Given the description of an element on the screen output the (x, y) to click on. 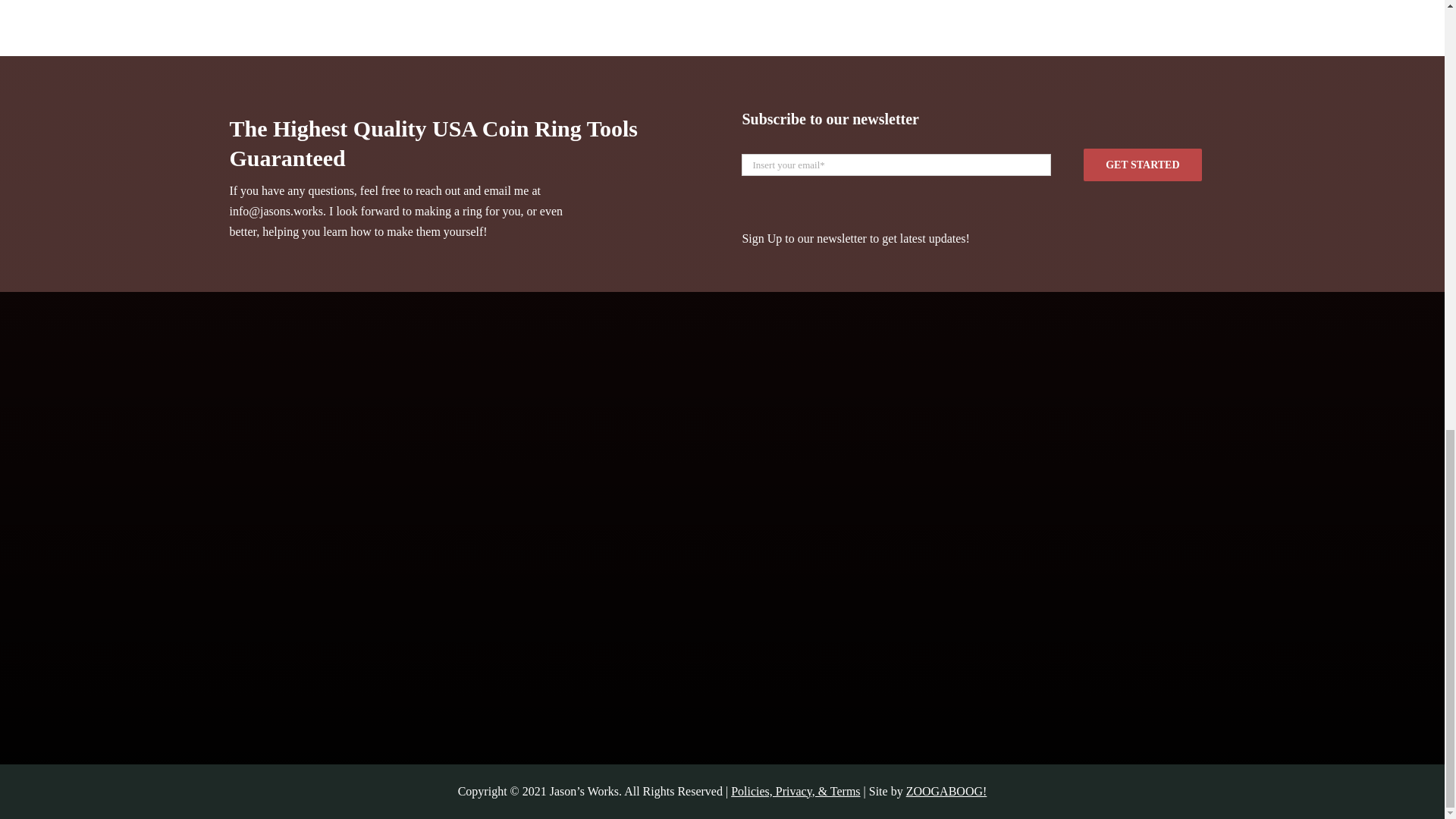
GET STARTED (977, 172)
